Given the description of an element on the screen output the (x, y) to click on. 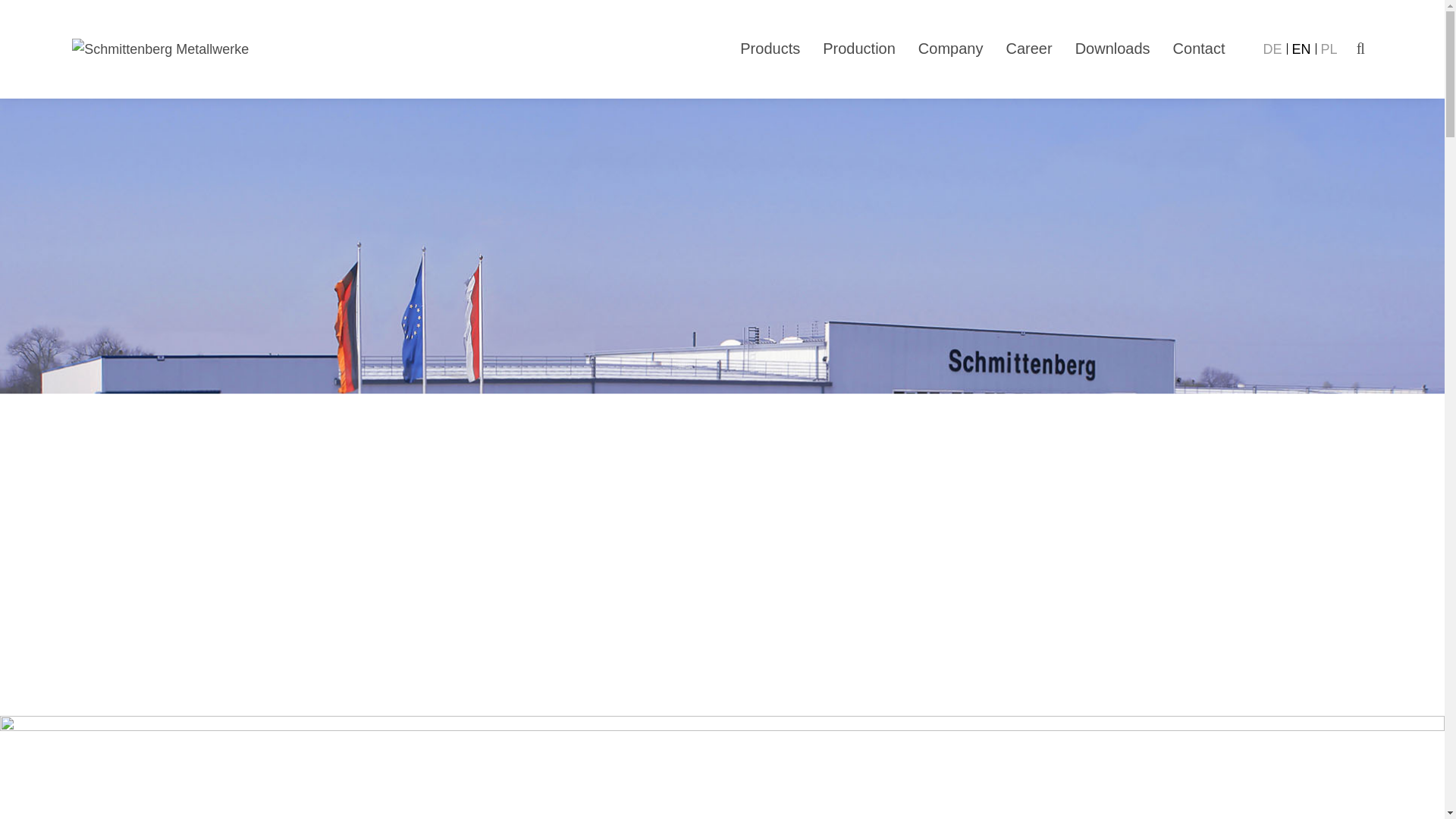
Downloads (1112, 48)
DE (1277, 48)
Career (1028, 48)
EN (1306, 48)
Products (769, 48)
Production (858, 48)
PL (1329, 48)
Production (858, 48)
Products (769, 48)
Company (951, 48)
Contact (1199, 48)
Company (951, 48)
Contact (1199, 48)
Career (1028, 48)
Downloads (1112, 48)
